Given the description of an element on the screen output the (x, y) to click on. 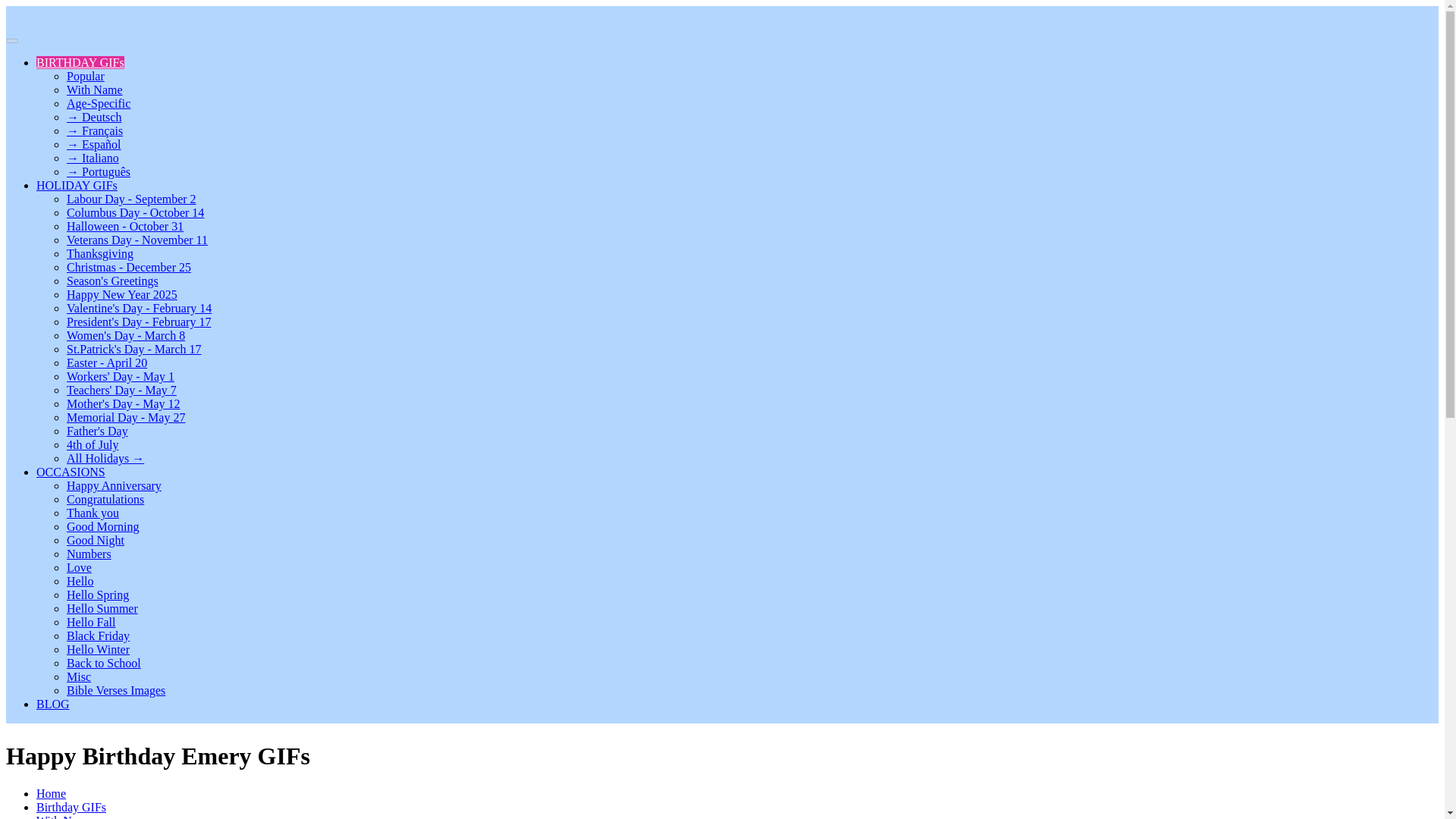
Season's Greetings (112, 280)
Women's Day - March 8 (125, 335)
Easter - April 20 (106, 362)
Thanksgiving (99, 253)
Workers' Day - May 1 (120, 376)
Happy New Year 2025 (121, 294)
Mother's Day - May 12 (123, 403)
St.Patrick's Day - March 17 (134, 349)
Christmas - December 25 (128, 267)
Father's Day (97, 431)
Happy Anniversary (113, 485)
Age-Specific (98, 103)
Good Night (94, 540)
Veterans Day - November 11 (137, 239)
Popular (85, 75)
